Given the description of an element on the screen output the (x, y) to click on. 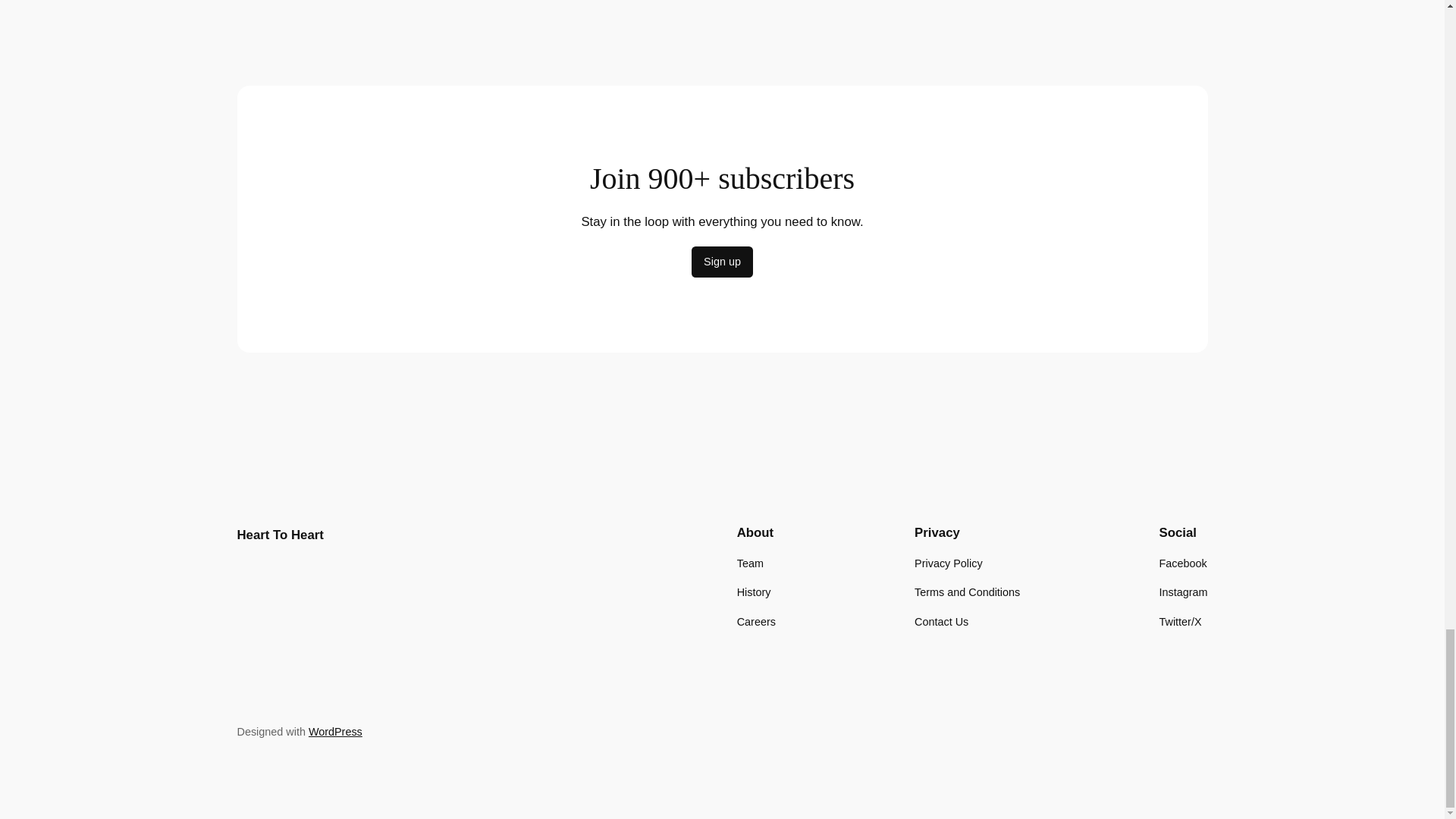
Instagram (1182, 591)
Sign up (721, 262)
Contact Us (941, 621)
Privacy Policy (948, 563)
WordPress (335, 731)
Heart To Heart (279, 534)
Terms and Conditions (967, 591)
History (753, 591)
Team (749, 563)
Careers (756, 621)
